Given the description of an element on the screen output the (x, y) to click on. 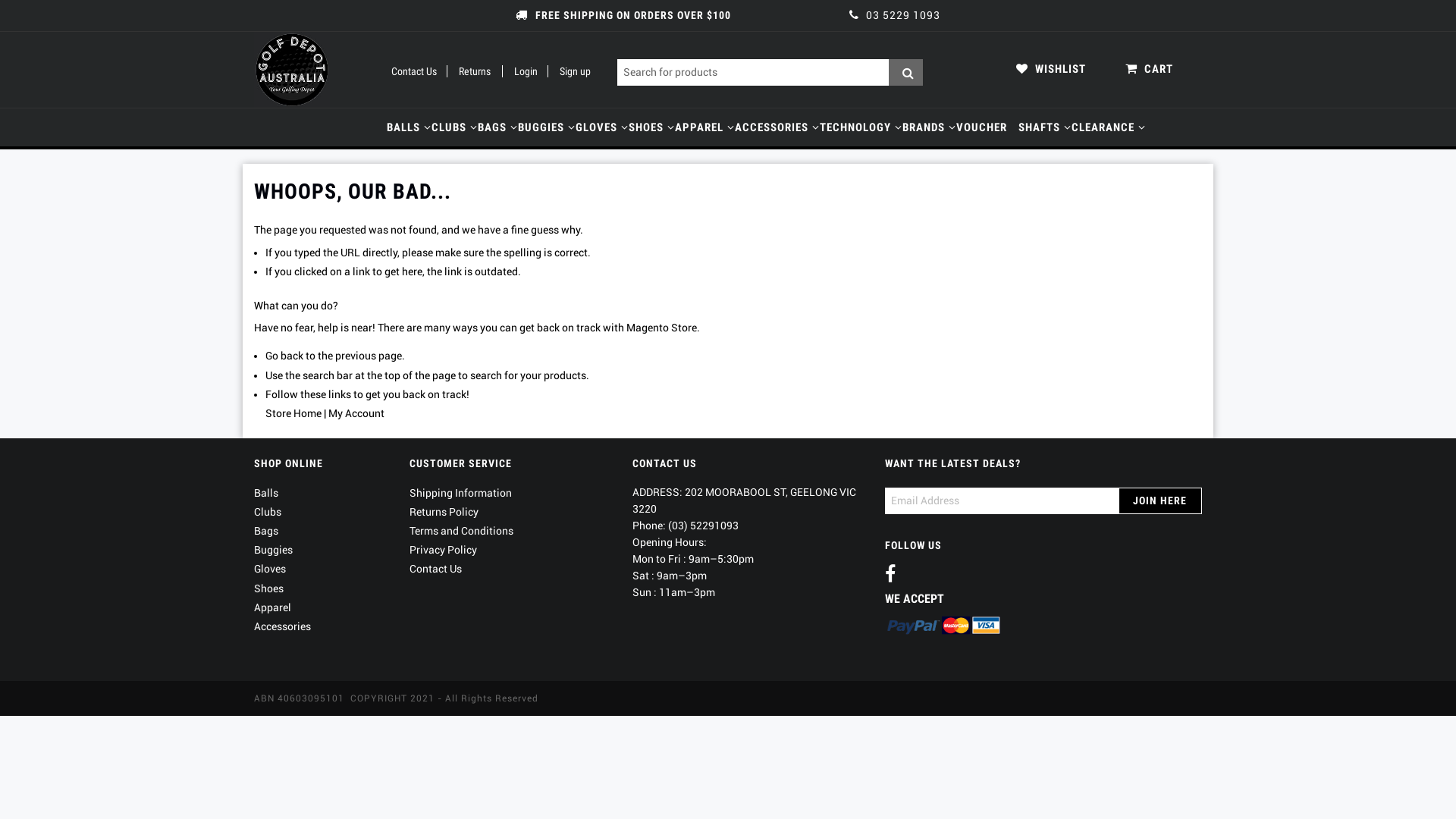
SHAFTS Element type: text (1038, 127)
Balls Element type: text (266, 492)
VOUCHER Element type: text (981, 127)
Returns Policy Element type: text (443, 511)
Contact Us Element type: text (435, 568)
Clubs Element type: text (267, 511)
WISHLIST Element type: text (1050, 68)
Returns Element type: text (468, 71)
CLUBS Element type: text (449, 127)
BALLS Element type: text (403, 127)
ACCESSORIES Element type: text (770, 127)
TECHNOLOGY Element type: text (854, 127)
Shoes Element type: text (268, 588)
APPAREL Element type: text (699, 127)
CLEARANCE Element type: text (1102, 127)
CART Element type: text (1149, 68)
GLOVES Element type: text (596, 127)
Accessories Element type: text (282, 626)
BAGS Element type: text (492, 127)
Bags Element type: text (266, 530)
Privacy Policy Element type: text (442, 549)
Gloves Element type: text (269, 568)
(03) 52291093 Element type: text (703, 525)
Terms and Conditions Element type: text (461, 530)
Store Home Element type: text (293, 413)
Contact Us Element type: text (413, 71)
Login Element type: text (519, 71)
Apparel Element type: text (272, 607)
BUGGIES Element type: text (541, 127)
 03 5229 1093 Element type: text (894, 15)
My Account Element type: text (356, 413)
Buggies Element type: text (273, 549)
  Element type: text (892, 577)
JOIN HERE Element type: text (1159, 500)
SEARCH Element type: text (905, 72)
Shipping Information Element type: text (460, 492)
SHOES Element type: text (646, 127)
BRANDS Element type: text (923, 127)
Sign up for our newsletter Element type: hover (1001, 500)
Go back Element type: text (284, 355)
Sign up Element type: text (568, 71)
